Given the description of an element on the screen output the (x, y) to click on. 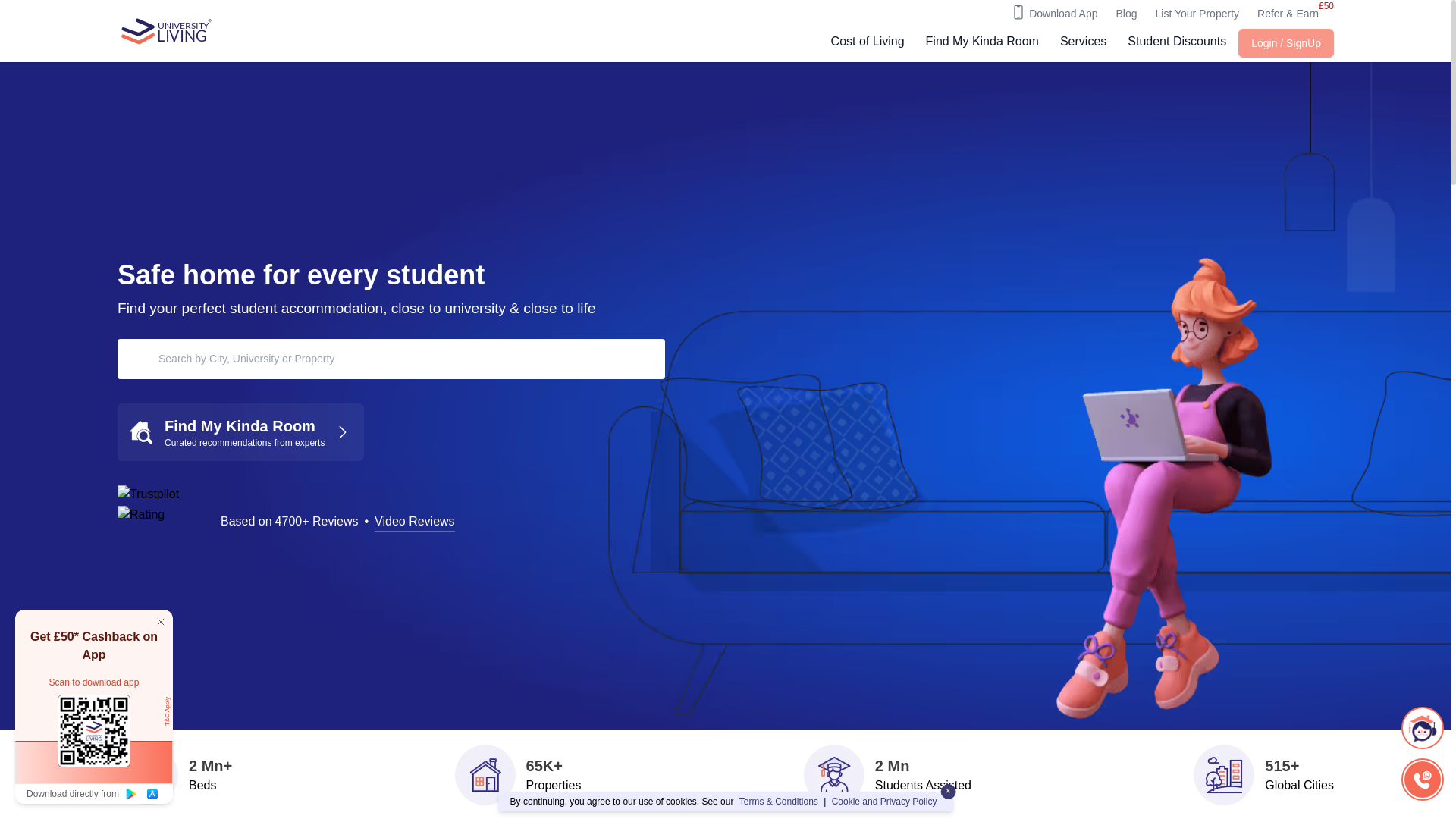
Services (1082, 43)
Blog (1126, 13)
Cost of Living (867, 43)
Student Discounts (1175, 43)
List Your Property (1198, 13)
Find My Kinda Room (982, 43)
